Given the description of an element on the screen output the (x, y) to click on. 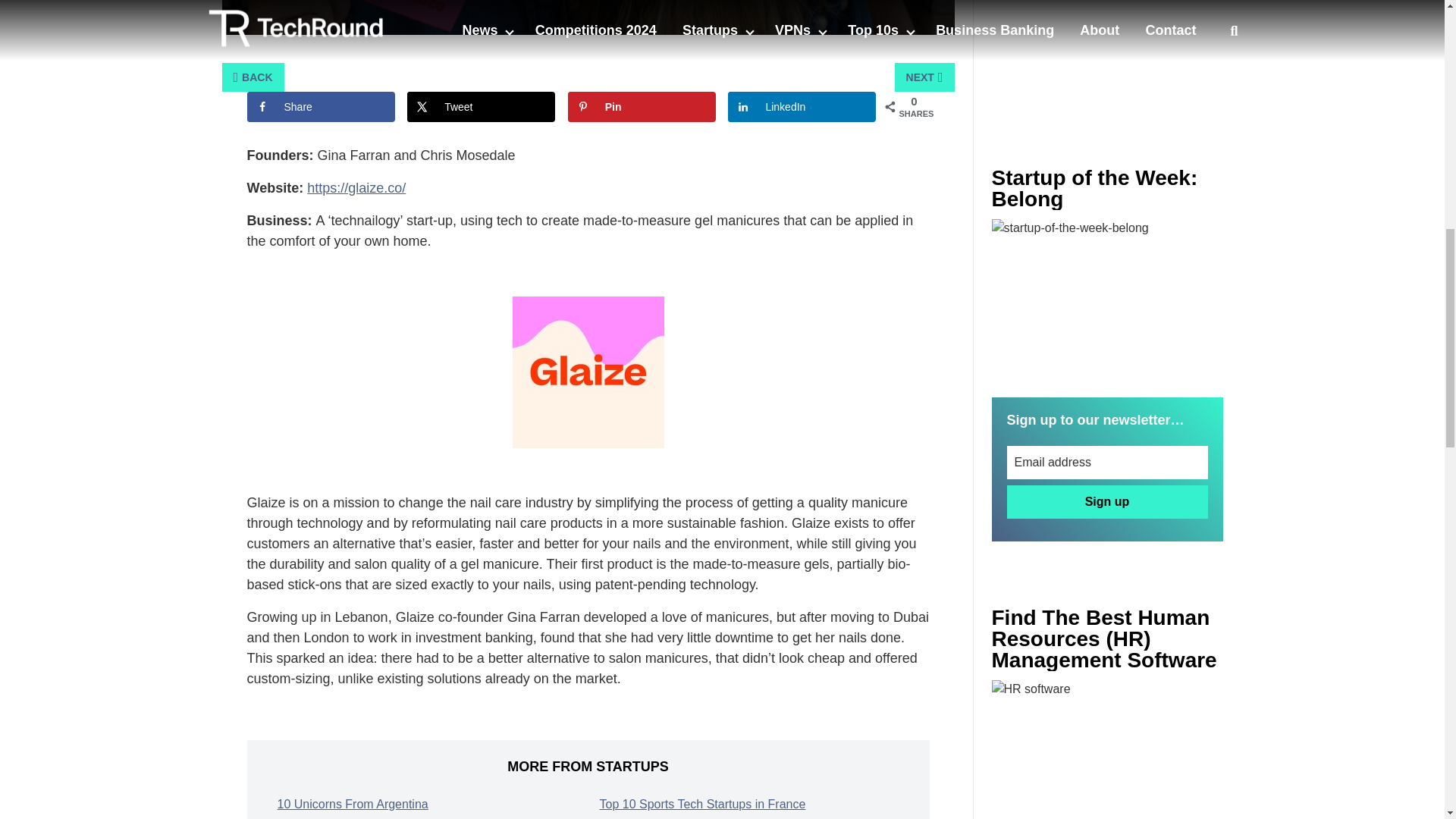
Share on Facebook (320, 106)
Share on X (480, 106)
Sign up (1107, 501)
Share on LinkedIn (802, 106)
Enter The BAME Top 50 Entrepreneurs - Deadline 10th Nov 2021 (1107, 749)
Save to Pinterest (641, 106)
Startup of the Week: Neon Link (1107, 296)
